Given the description of an element on the screen output the (x, y) to click on. 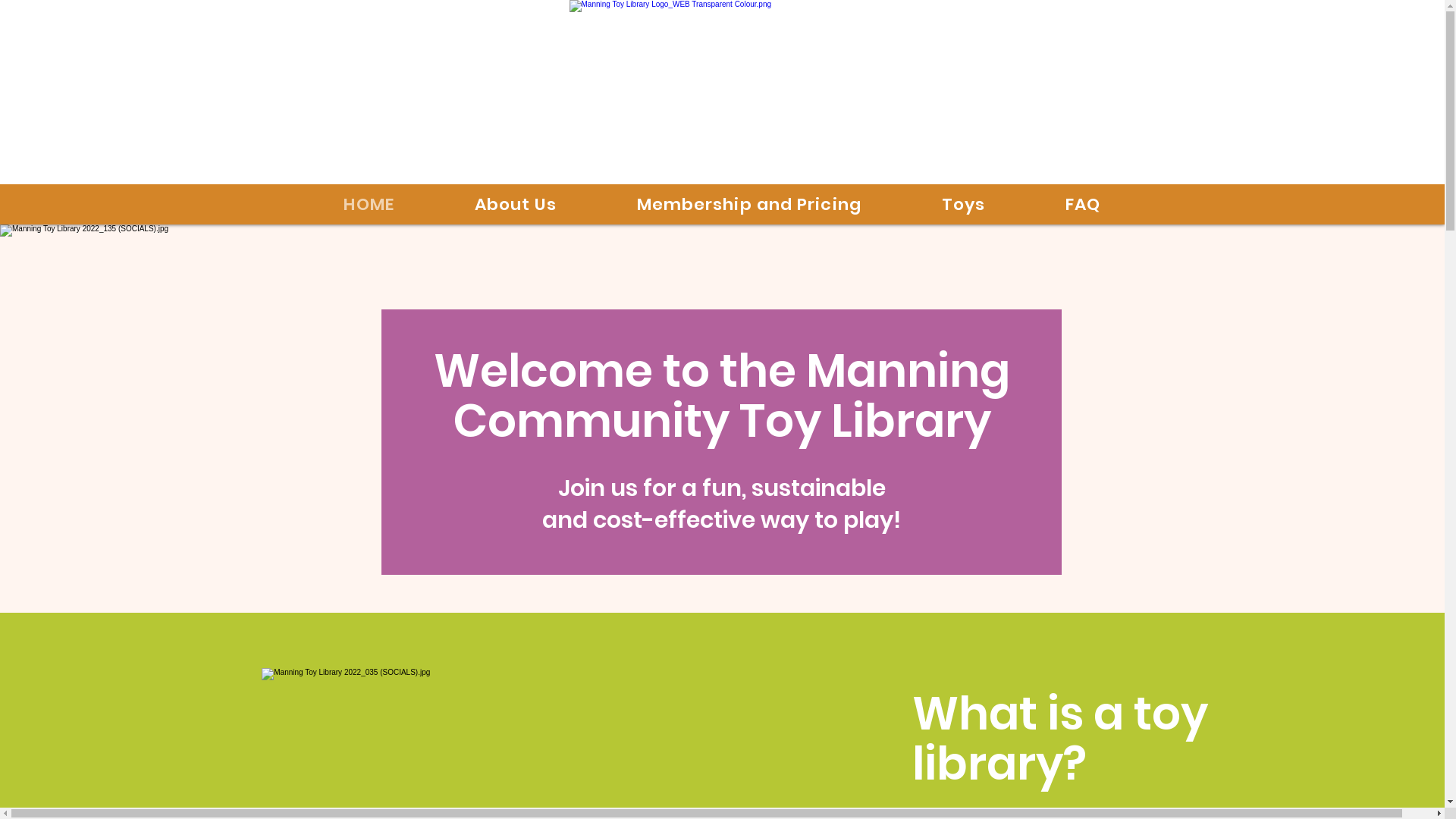
FAQ Element type: text (1082, 204)
About Us Element type: text (515, 204)
Toys Element type: text (963, 204)
HOME Element type: text (368, 204)
Membership and Pricing Element type: text (749, 204)
